Given the description of an element on the screen output the (x, y) to click on. 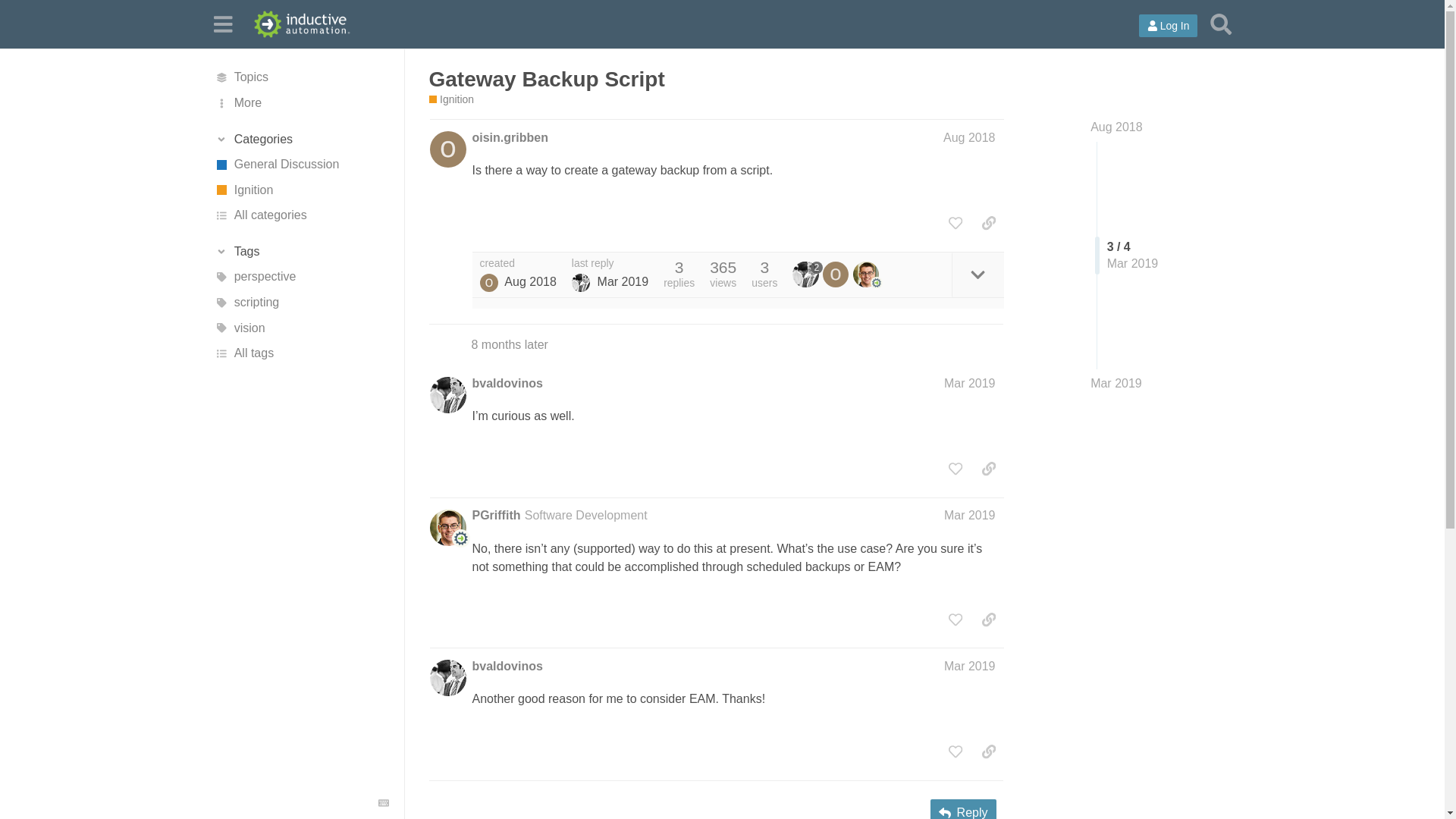
More (301, 103)
All topics (301, 77)
Toggle section (301, 251)
Keyboard Shortcuts (384, 802)
2 (807, 274)
All categories (301, 216)
scripting (301, 302)
Ignition (451, 99)
Gateway Backup Script (547, 78)
Search (1220, 23)
oisin.gribben (509, 137)
vision (301, 328)
last reply (609, 263)
Tags (301, 251)
Post date (969, 137)
